Given the description of an element on the screen output the (x, y) to click on. 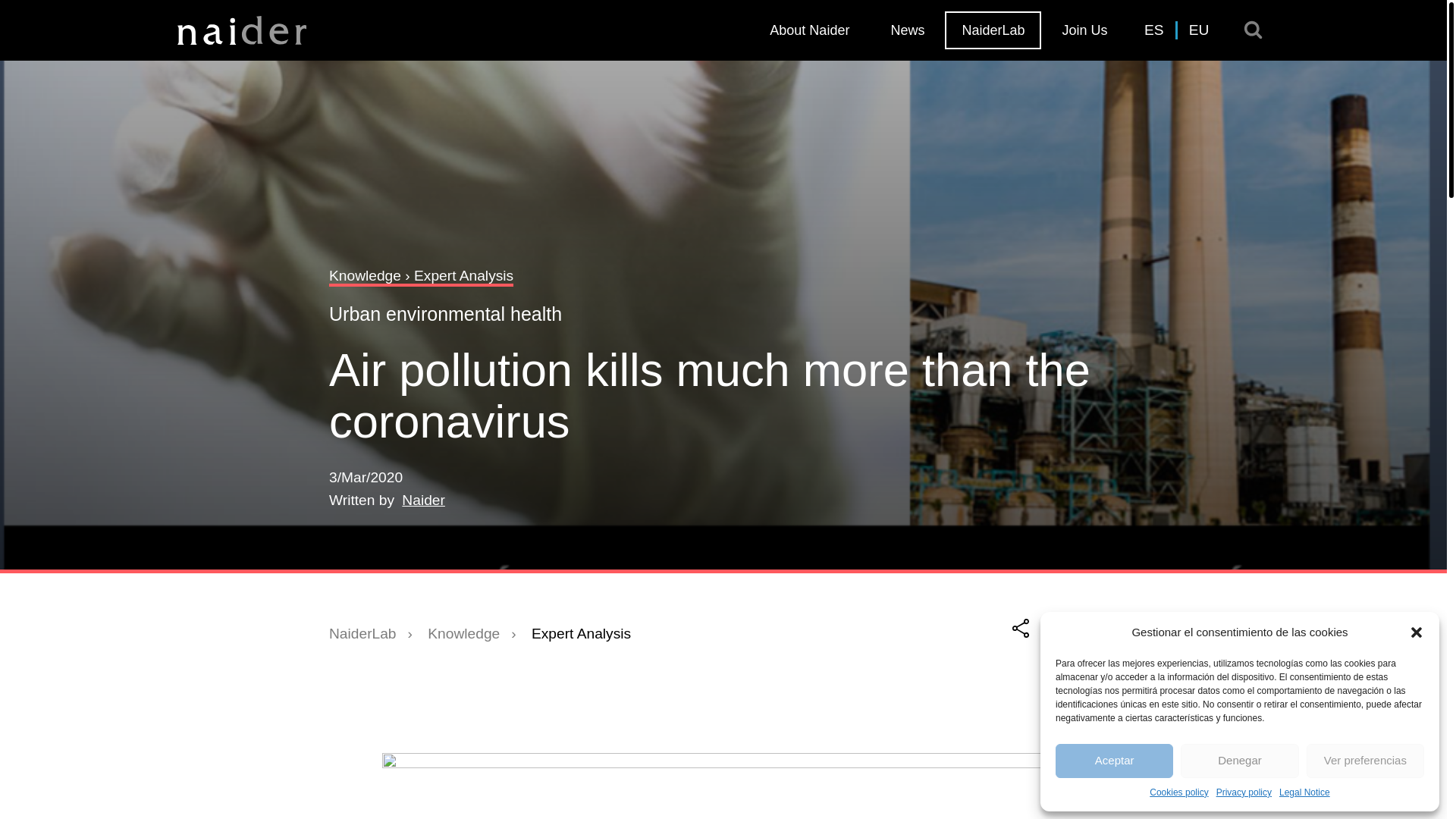
Naider (423, 499)
Legal Notice (1304, 792)
About Naider (809, 30)
Ver preferencias (1364, 760)
Cookies policy (1179, 792)
NaiderLab (992, 30)
Naider (423, 499)
Join Us (1083, 30)
Privacy policy (1243, 792)
Expert Analysis (580, 633)
